Given the description of an element on the screen output the (x, y) to click on. 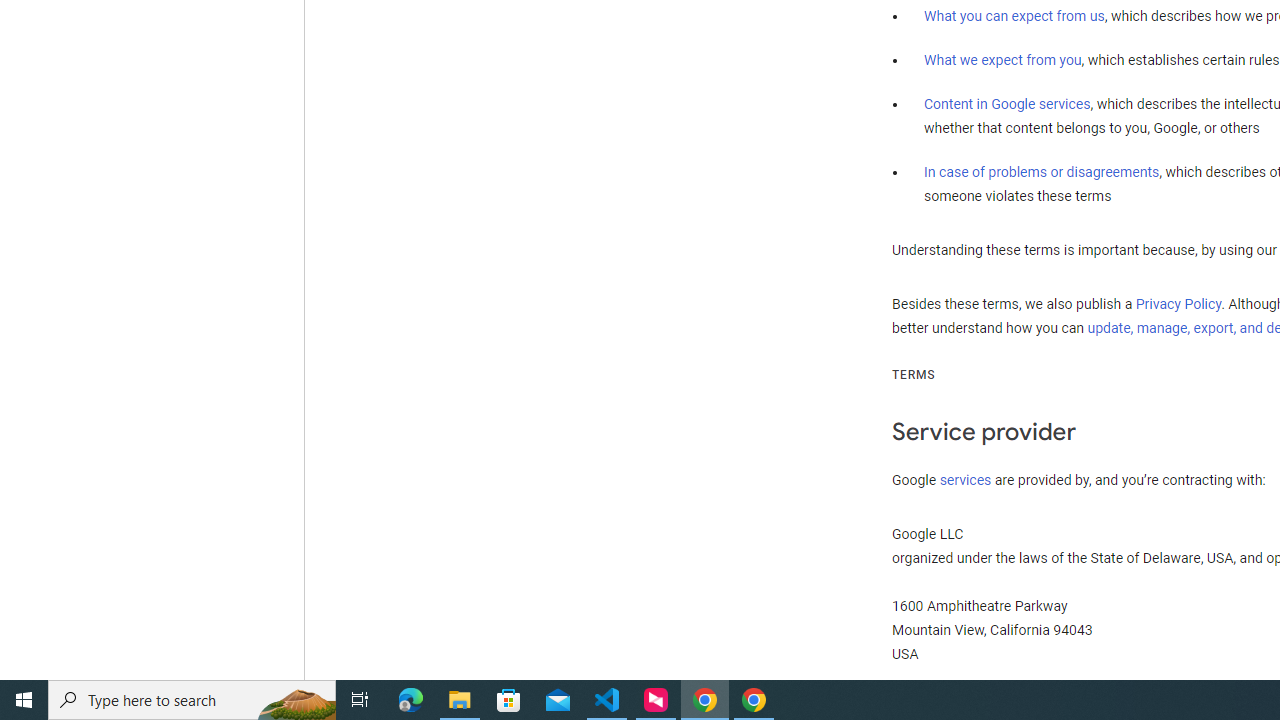
What we expect from you (1002, 60)
What you can expect from us (1014, 16)
services (965, 479)
In case of problems or disagreements (1041, 171)
Content in Google services (1007, 104)
